Given the description of an element on the screen output the (x, y) to click on. 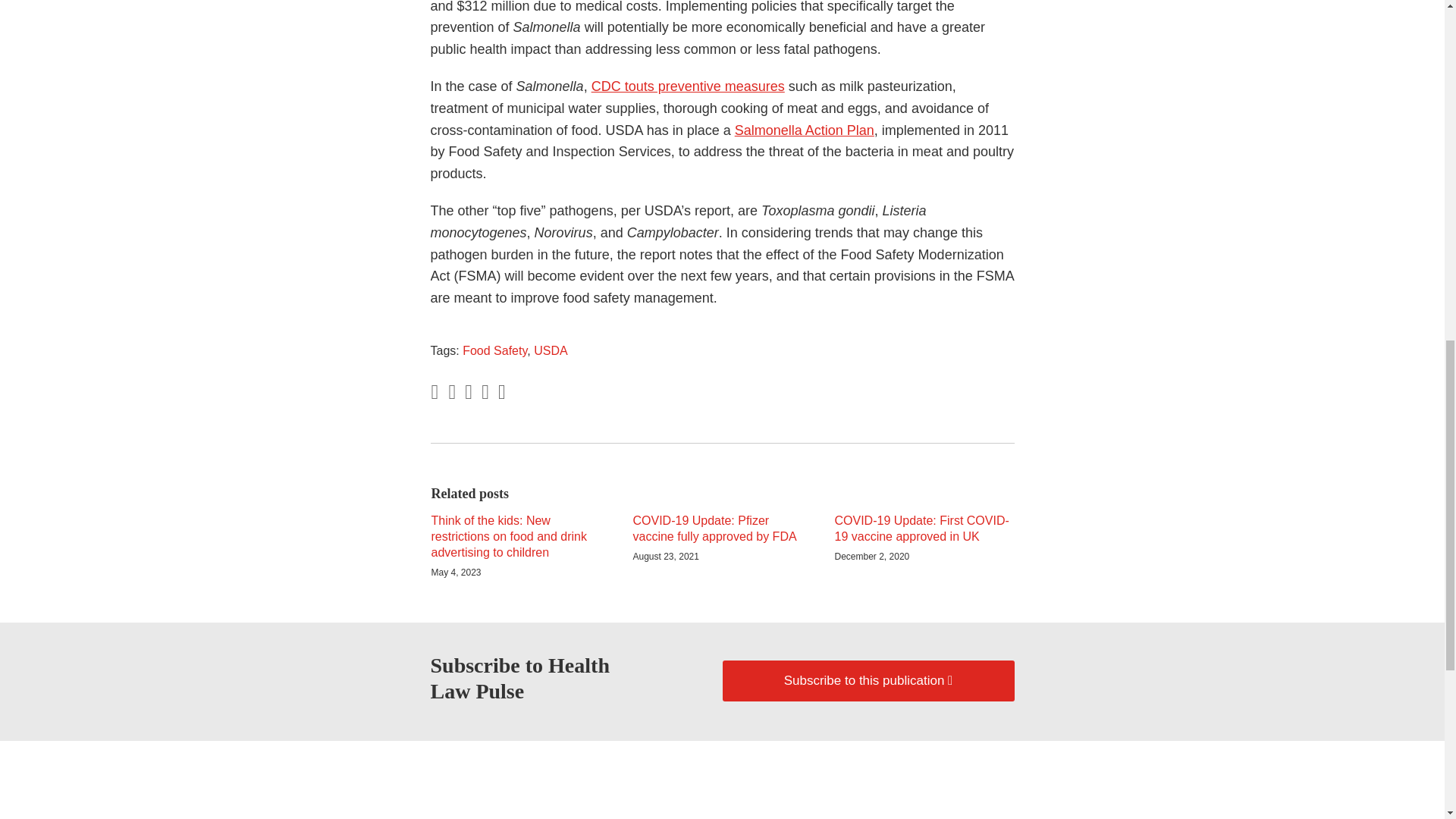
Subscribe to this publication (867, 680)
Salmonella Action Plan (805, 130)
COVID-19 Update: Pfizer vaccine fully approved by FDA (720, 529)
Food Safety (495, 350)
USDA (550, 350)
COVID-19 Update: First COVID-19 vaccine approved in UK (923, 529)
CDC touts preventive measures (687, 86)
